Given the description of an element on the screen output the (x, y) to click on. 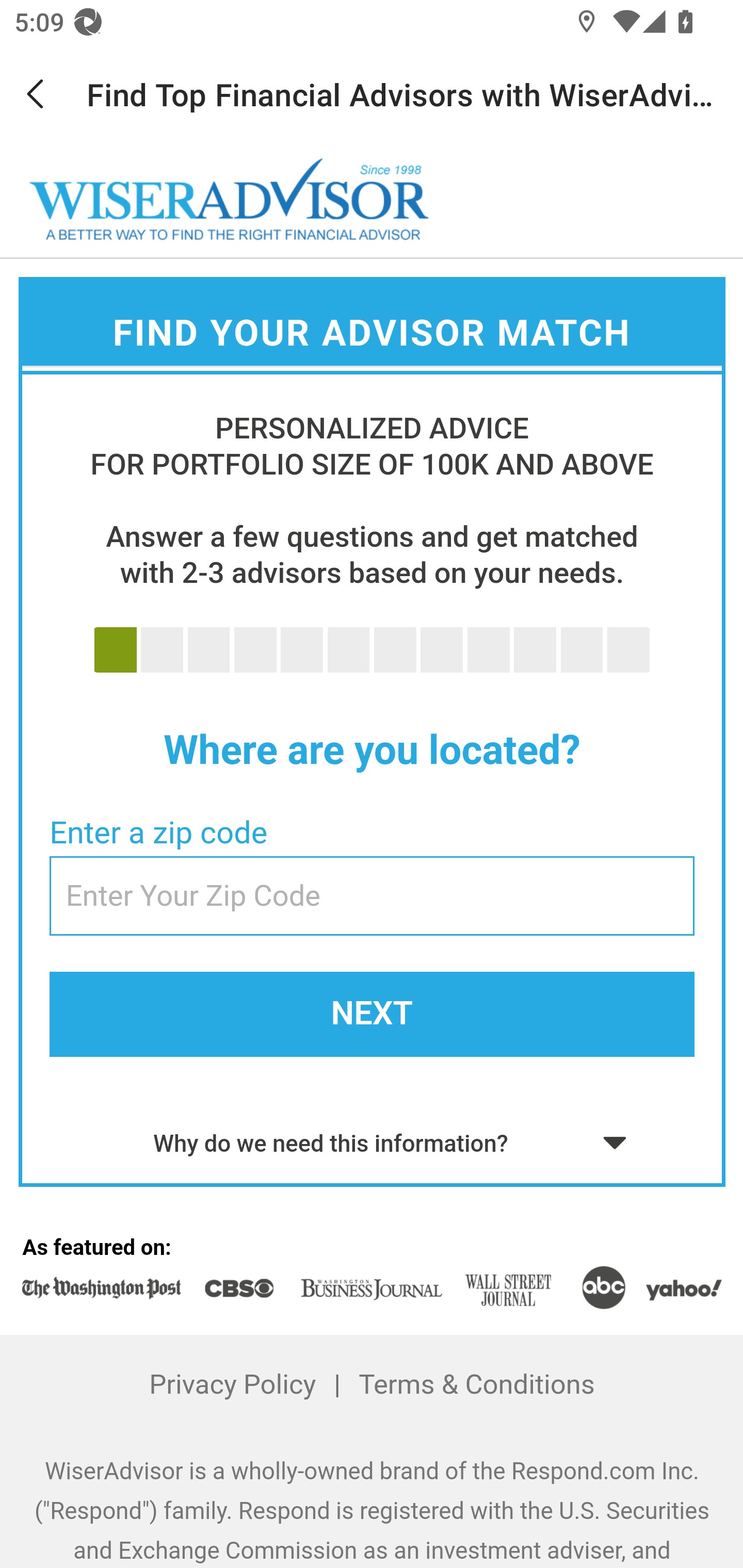
WiserAdvisor (229, 200)
NEXT (371, 1014)
Privacy Policy (232, 1384)
Terms & Conditions (476, 1384)
